Given the description of an element on the screen output the (x, y) to click on. 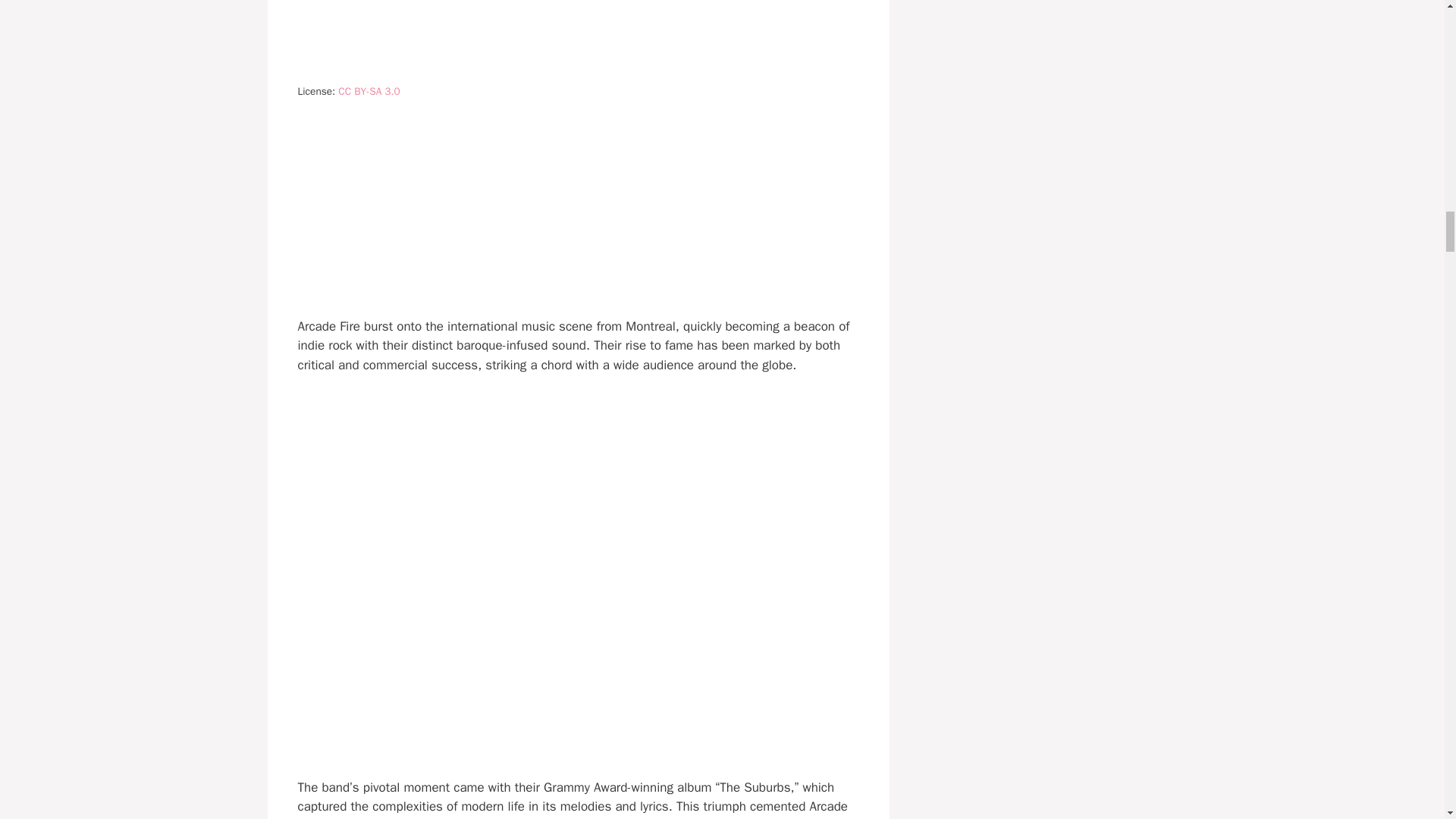
CC BY-SA 3.0 (367, 91)
